Given the description of an element on the screen output the (x, y) to click on. 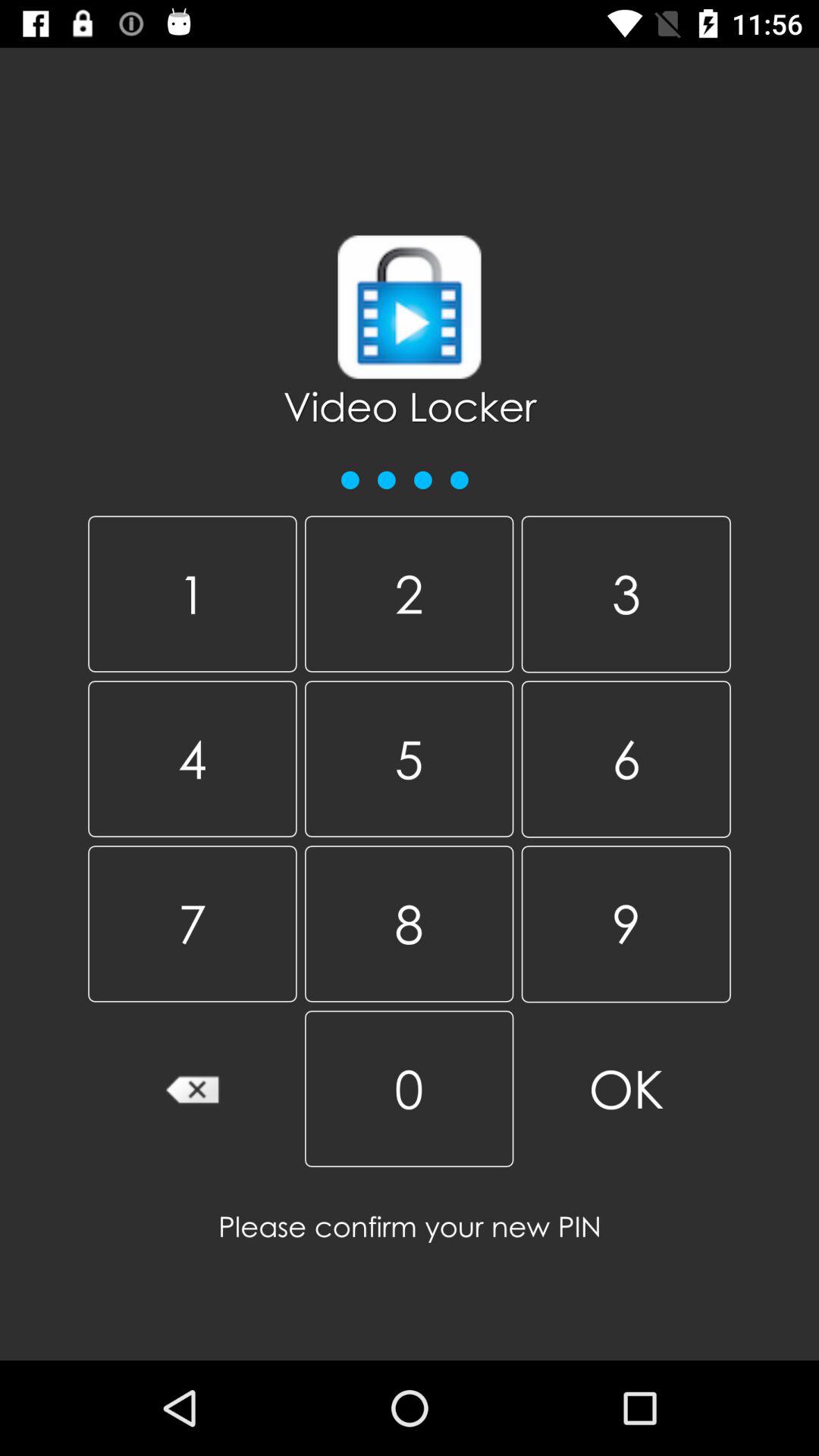
turn on icon to the right of the 1 (408, 593)
